Given the description of an element on the screen output the (x, y) to click on. 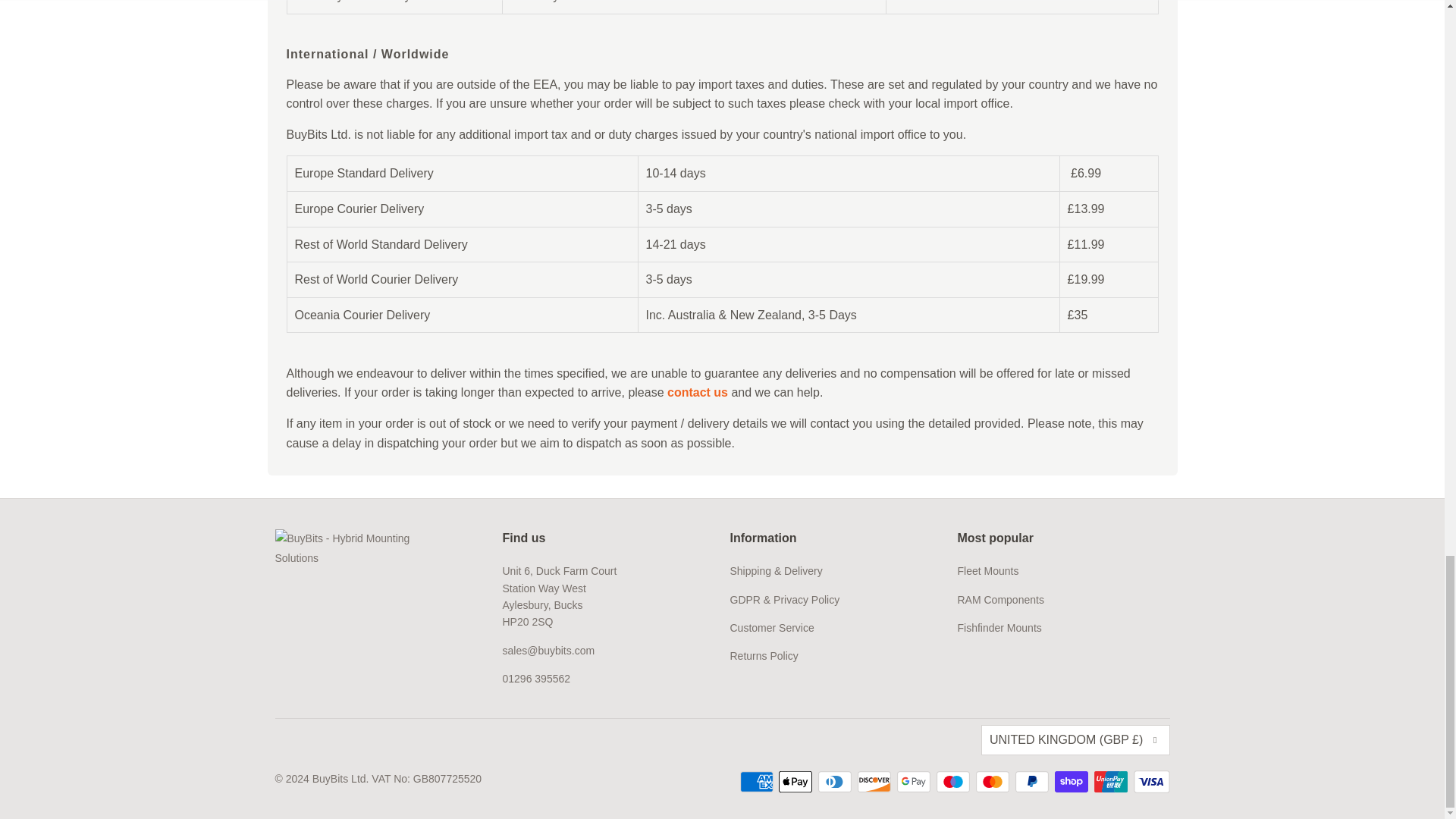
PayPal (1032, 781)
Mastercard (993, 781)
Union Pay (1112, 781)
Shop Pay (1072, 781)
Maestro (954, 781)
Discover (875, 781)
Visa (1150, 781)
American Express (757, 781)
Contact Us (697, 391)
Google Pay (914, 781)
